Given the description of an element on the screen output the (x, y) to click on. 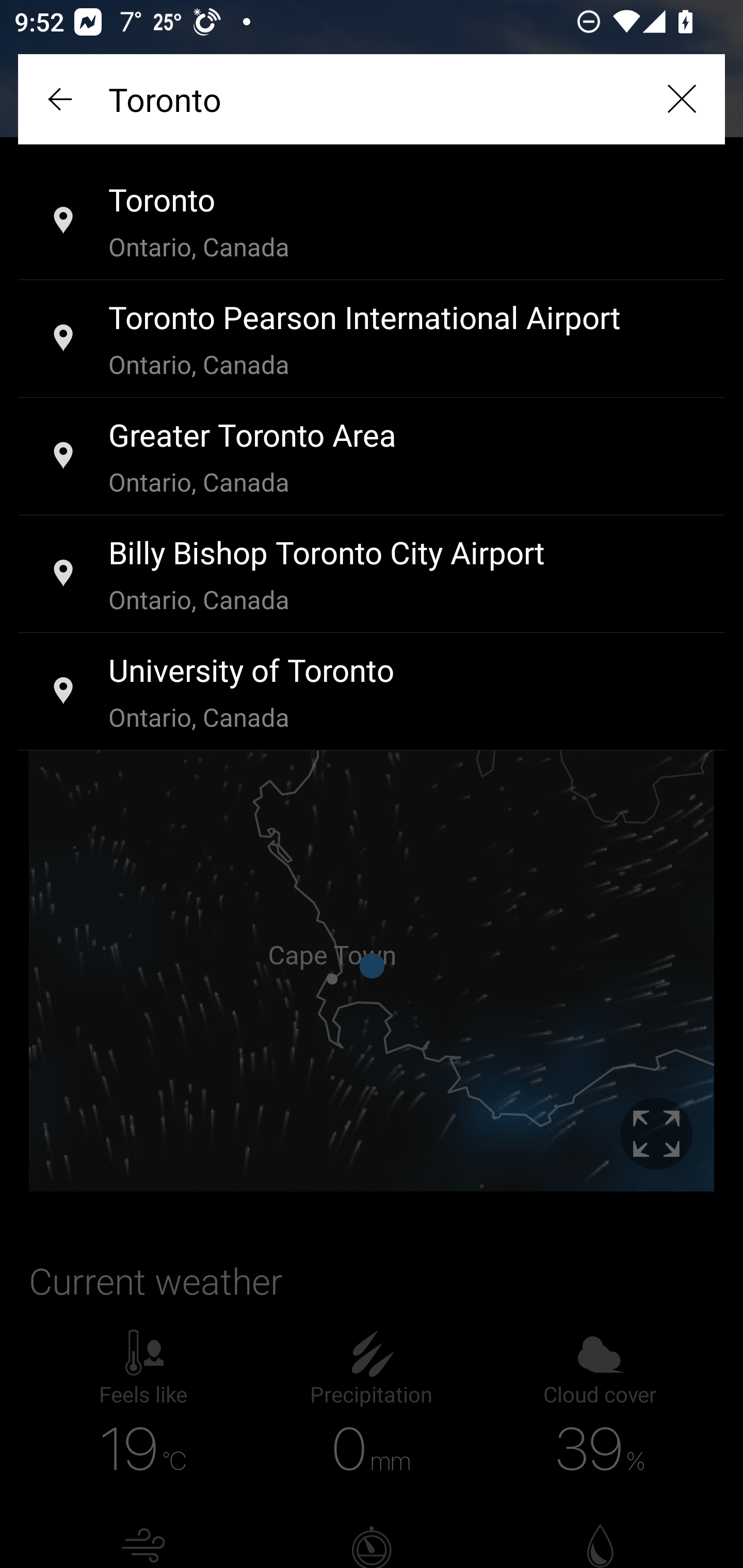
Toronto (371, 99)
 (681, 99)
 (61, 99)
 Toronto Ontario, Canada (371, 221)
 Greater Toronto Area Ontario, Canada (371, 456)
 University of Toronto Ontario, Canada (371, 692)
